Given the description of an element on the screen output the (x, y) to click on. 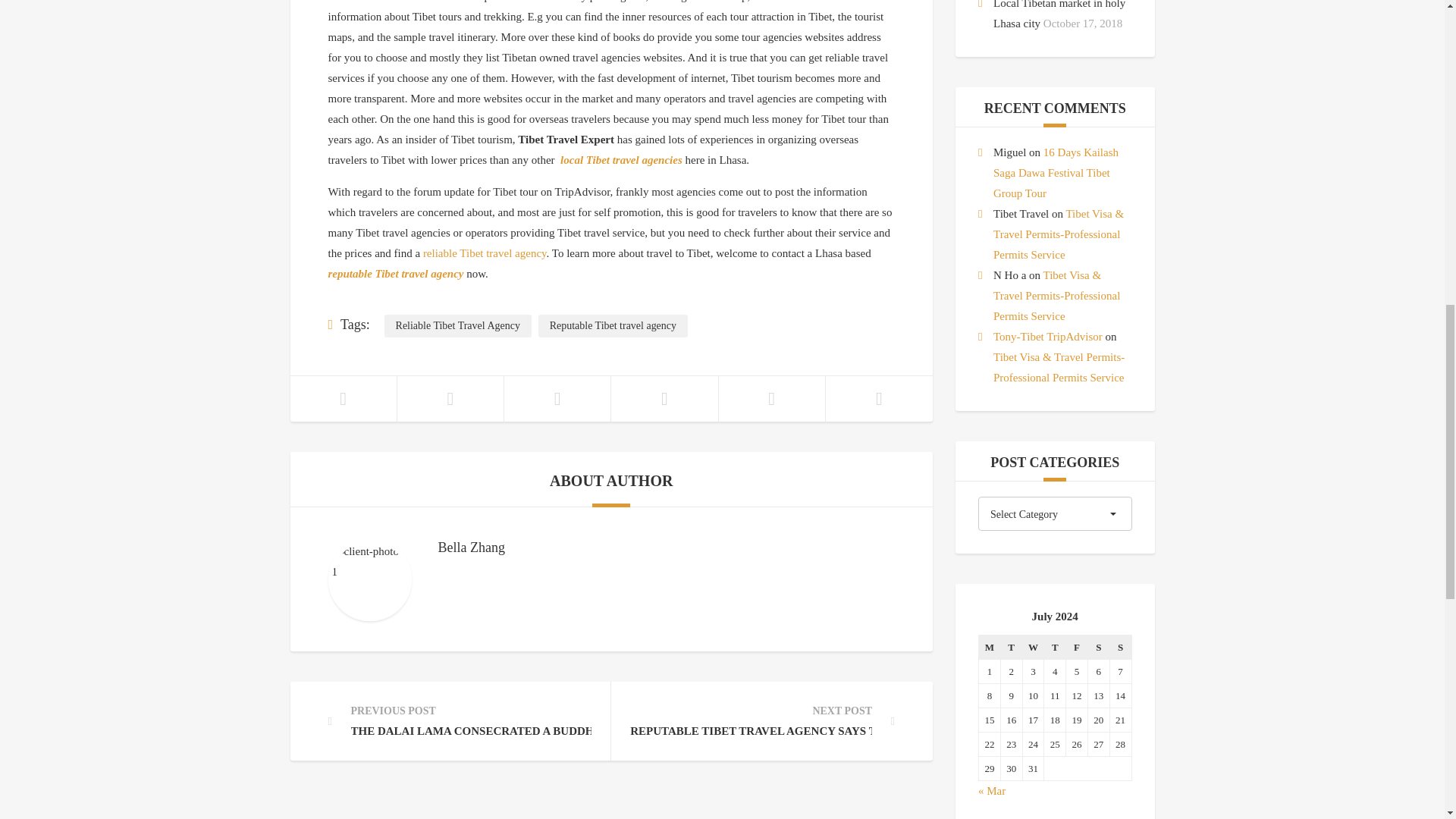
Wednesday (1032, 647)
Friday (1076, 647)
Select Category (1055, 513)
Saturday (1098, 647)
Monday (989, 647)
Thursday (1054, 647)
Sunday (1120, 647)
Tuesday (1011, 647)
